Given the description of an element on the screen output the (x, y) to click on. 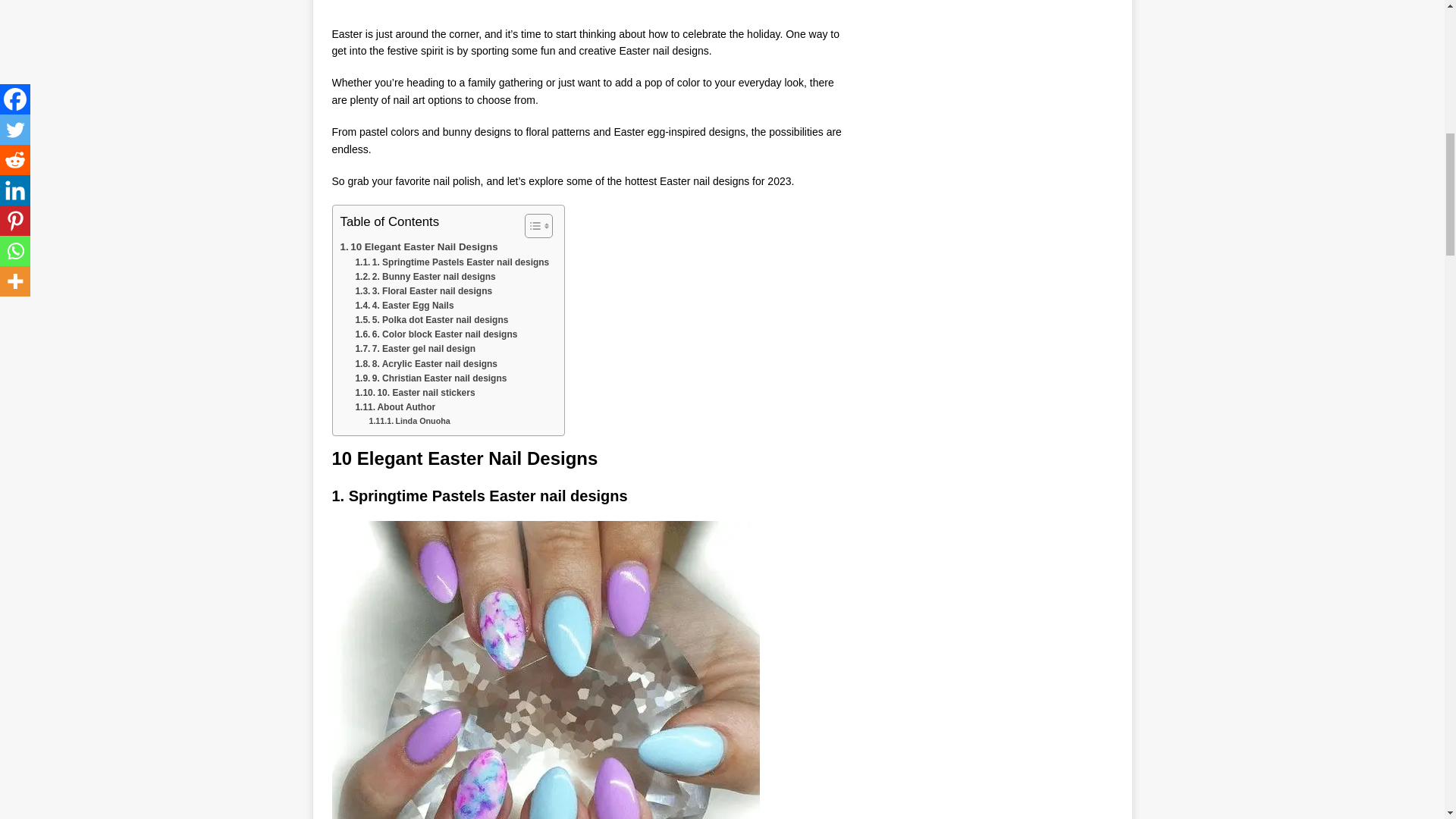
1. Springtime Pastels Easter nail designs (451, 262)
1. Springtime Pastels Easter nail designs (451, 262)
6. Color block Easter nail designs (435, 334)
4. Easter Egg Nails (403, 305)
10 Elegant Easter Nail Designs (418, 246)
3. Floral Easter nail designs (423, 291)
7. Easter gel nail design (415, 349)
8. Acrylic Easter nail designs (426, 364)
6. Color block Easter nail designs (435, 334)
Linda Onuoha (408, 420)
